Given the description of an element on the screen output the (x, y) to click on. 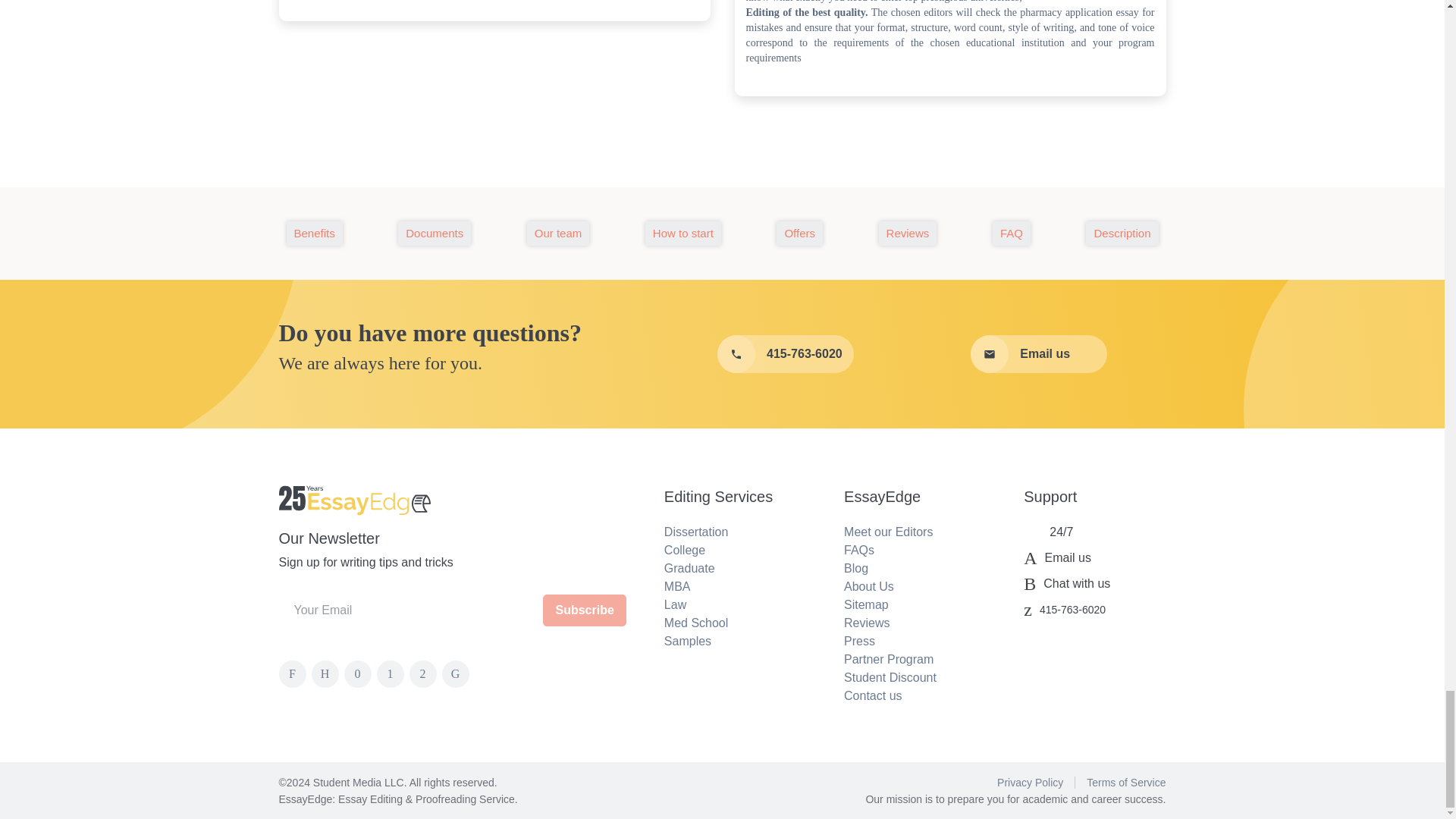
linkedin (457, 673)
twitter (327, 673)
415-763-6020 (785, 353)
youtube (360, 673)
instagram (392, 673)
Subscribe (584, 610)
facebook (295, 673)
Email us (1038, 353)
pinterest (425, 673)
